Given the description of an element on the screen output the (x, y) to click on. 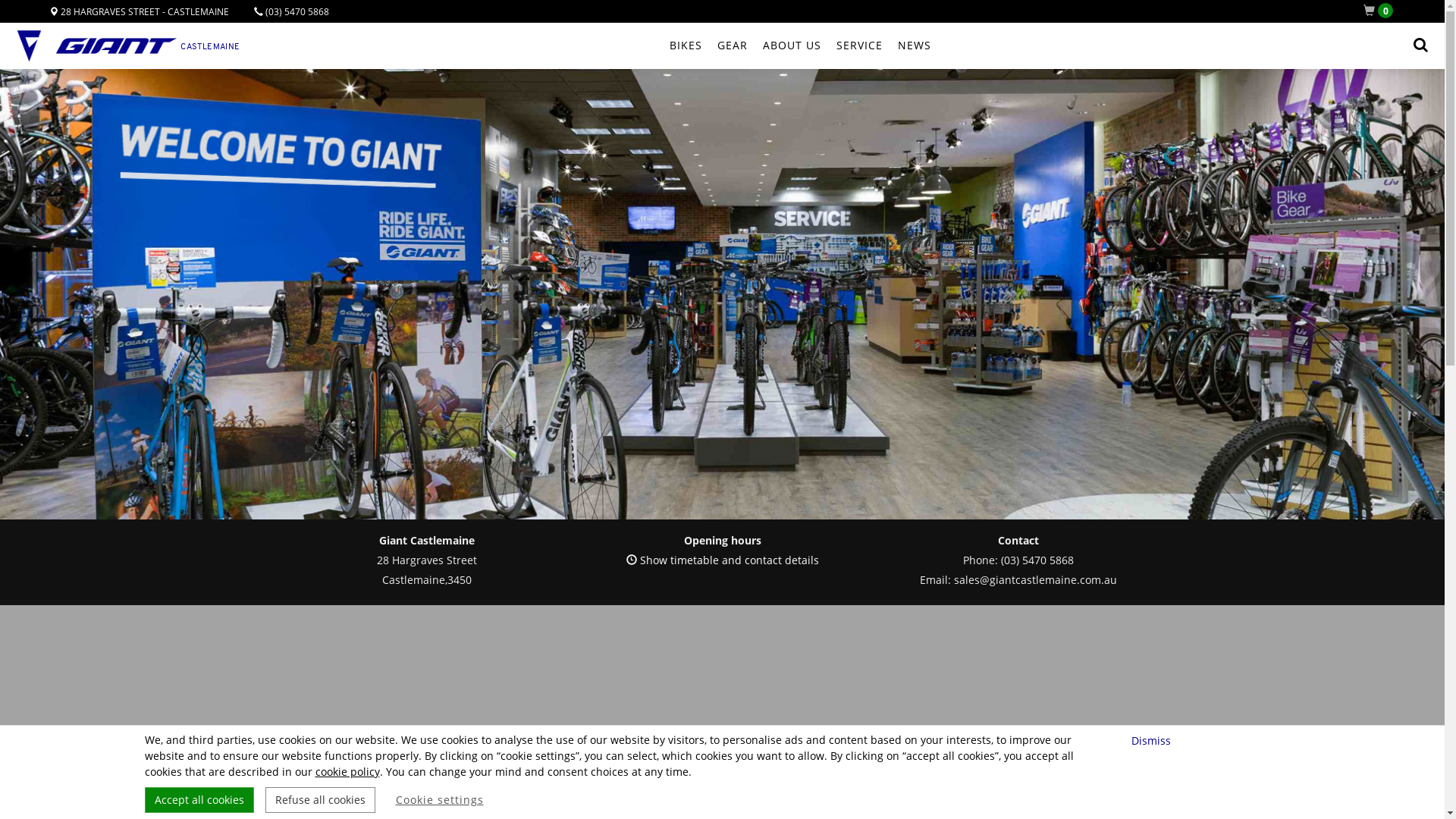
Refuse all cookies Element type: text (320, 799)
cookie policy Element type: text (347, 771)
Accept all cookies Element type: text (198, 799)
ABOUT US Element type: text (791, 45)
BIKES Element type: text (684, 45)
GEAR Element type: text (732, 45)
Dismiss Element type: text (1152, 740)
0 item(s) in cart
0
Total amount Element type: text (1381, 10)
NEWS Element type: text (914, 45)
SERVICE Element type: text (858, 45)
Show timetable and contact details Element type: text (722, 559)
Cookie settings Element type: text (439, 799)
